Given the description of an element on the screen output the (x, y) to click on. 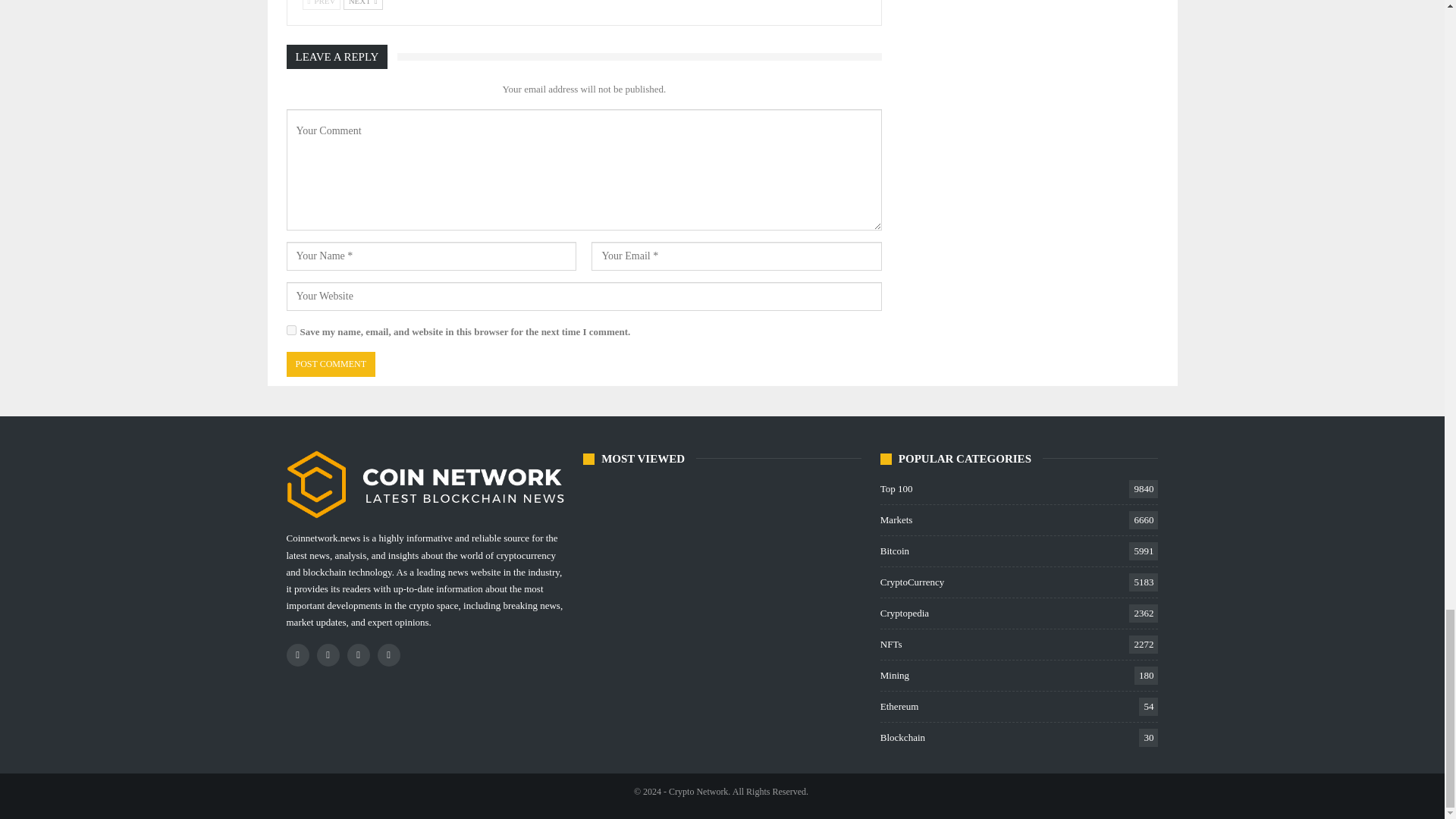
Post Comment (330, 364)
yes (291, 329)
